Given the description of an element on the screen output the (x, y) to click on. 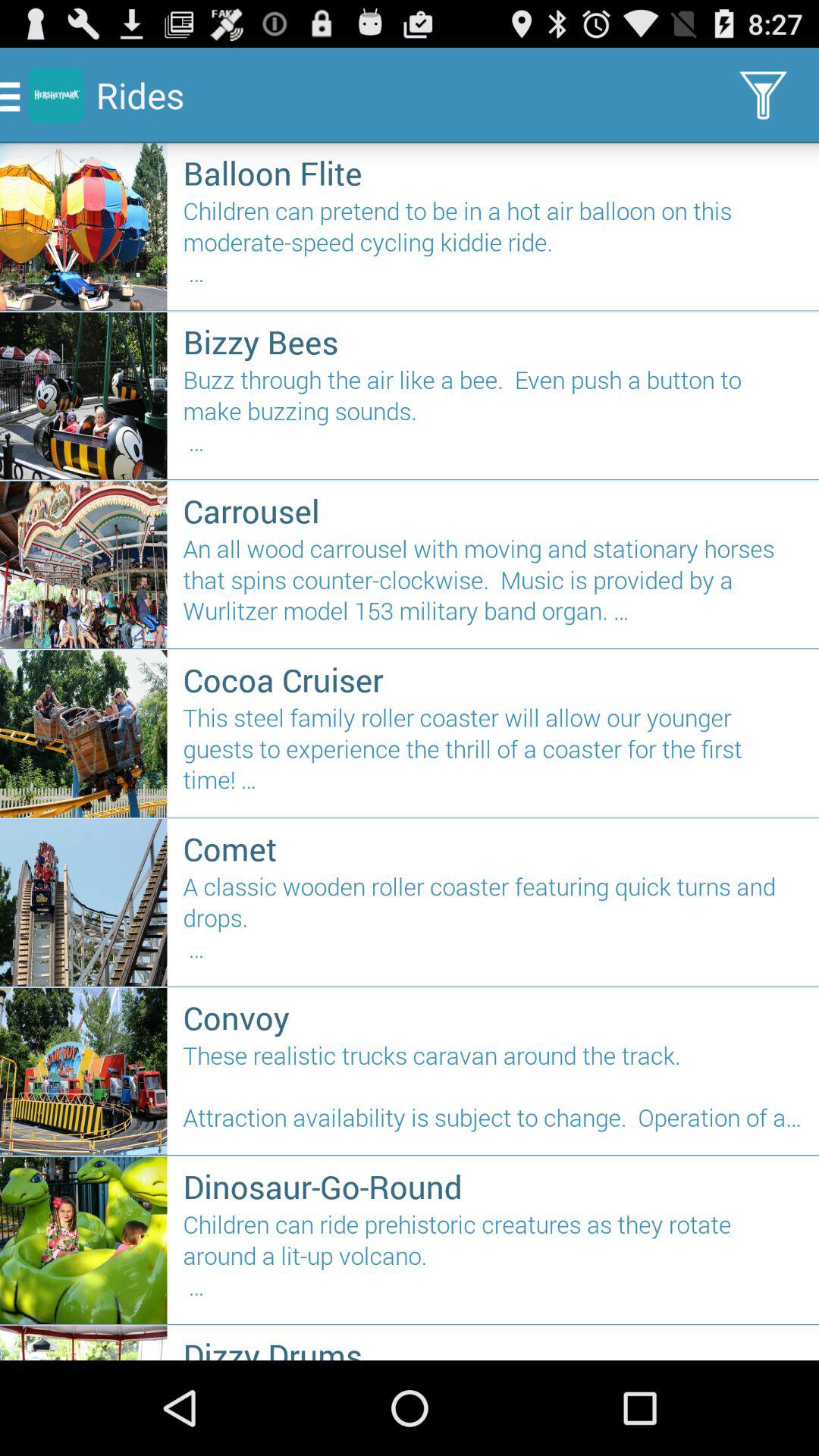
flip to bizzy bees item (493, 341)
